Given the description of an element on the screen output the (x, y) to click on. 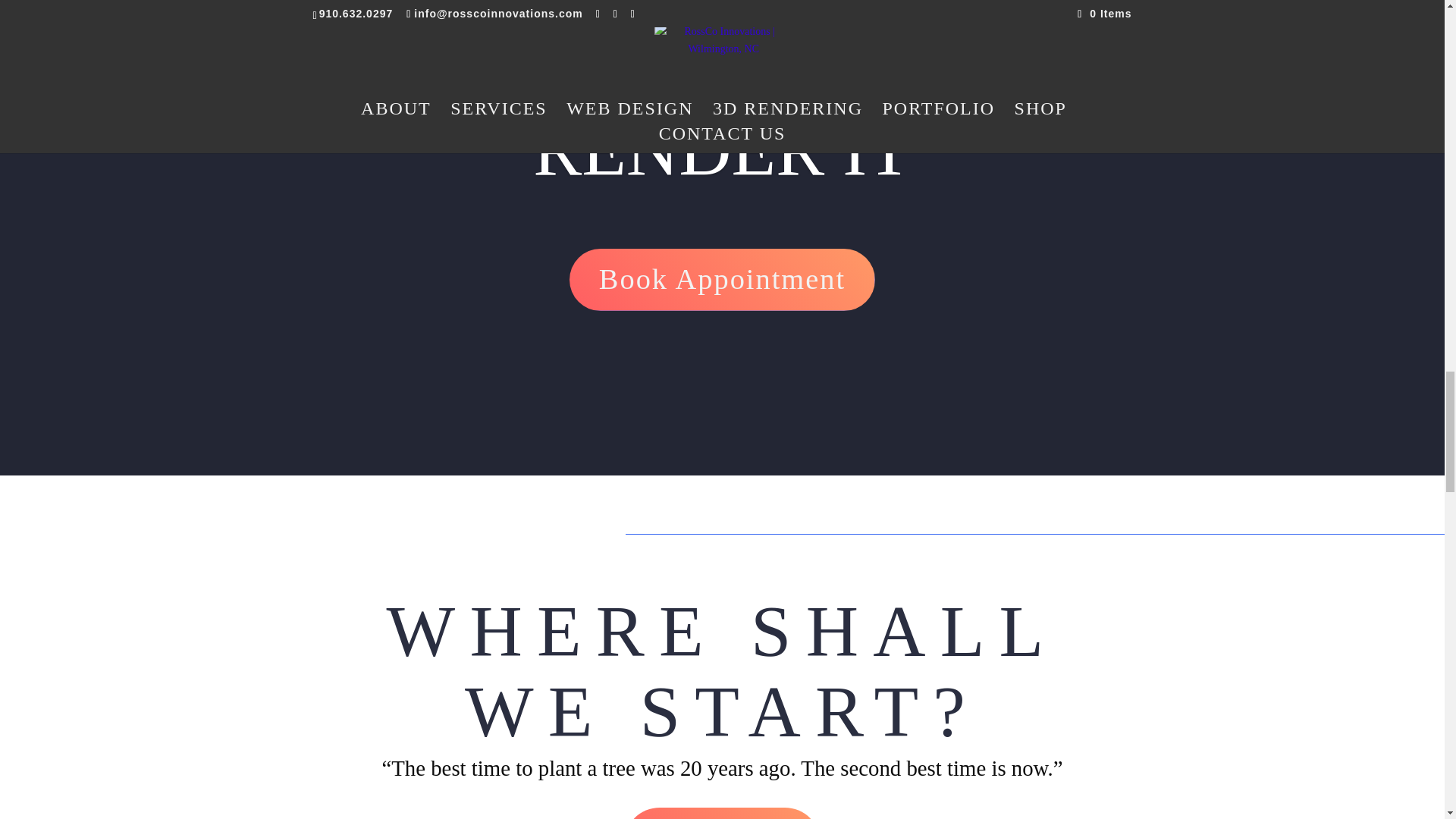
Learn More (721, 813)
